Given the description of an element on the screen output the (x, y) to click on. 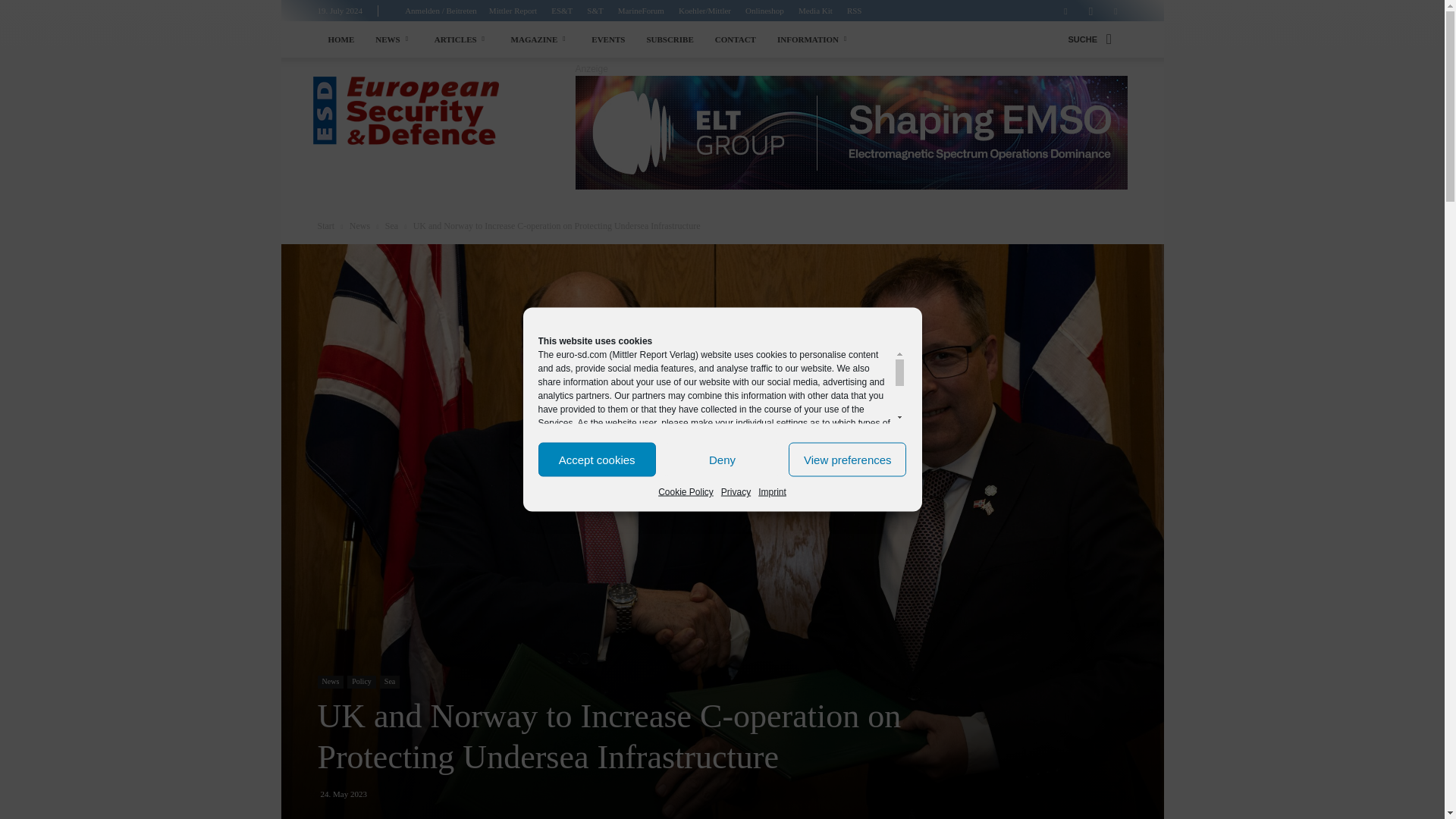
privacy policy. (837, 490)
Mail (1114, 10)
Privacy (735, 491)
Cookie Policy (685, 491)
Facebook (1065, 10)
View preferences (847, 459)
Deny (721, 459)
Instagram (1090, 10)
Imprint (772, 491)
Accept cookies (597, 459)
